Given the description of an element on the screen output the (x, y) to click on. 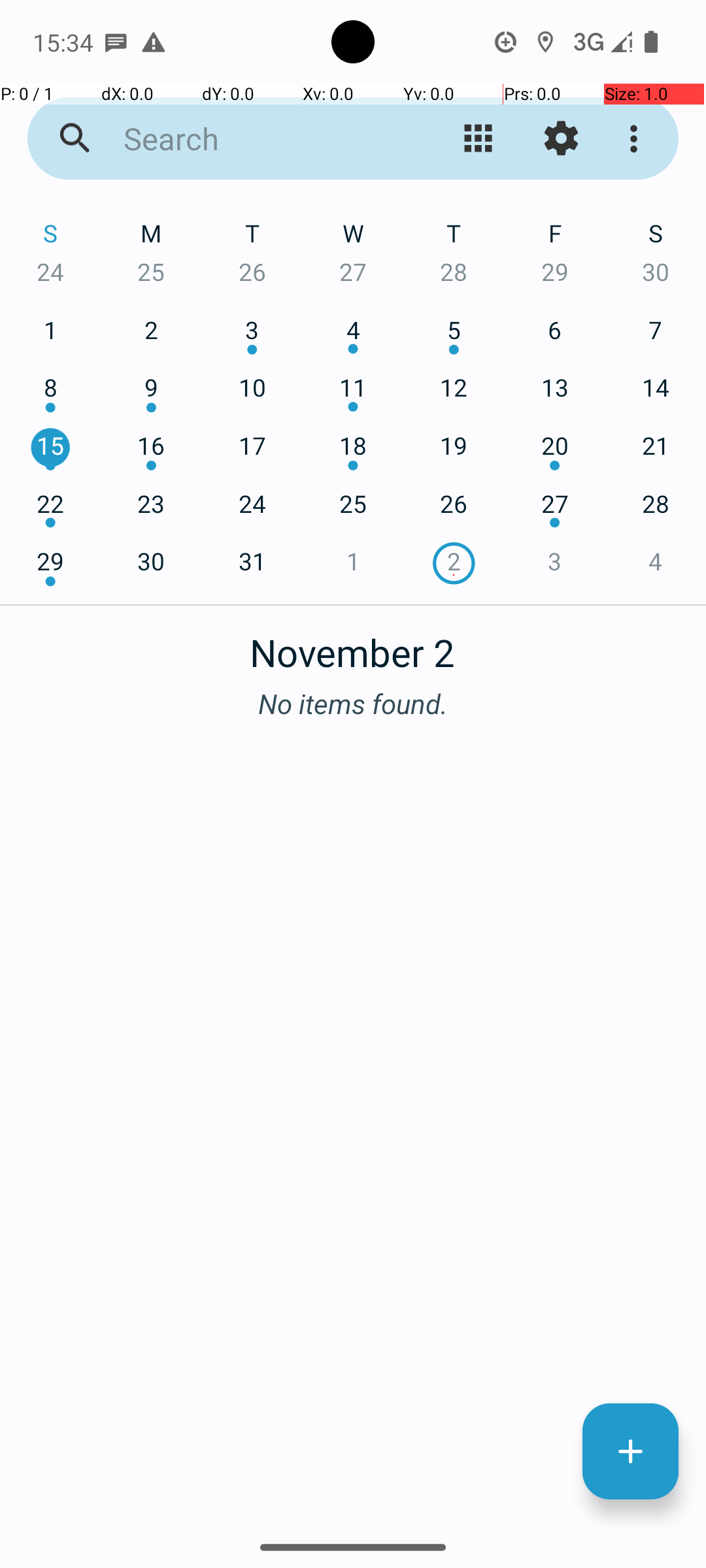
November 2 Element type: android.widget.TextView (352, 644)
